Given the description of an element on the screen output the (x, y) to click on. 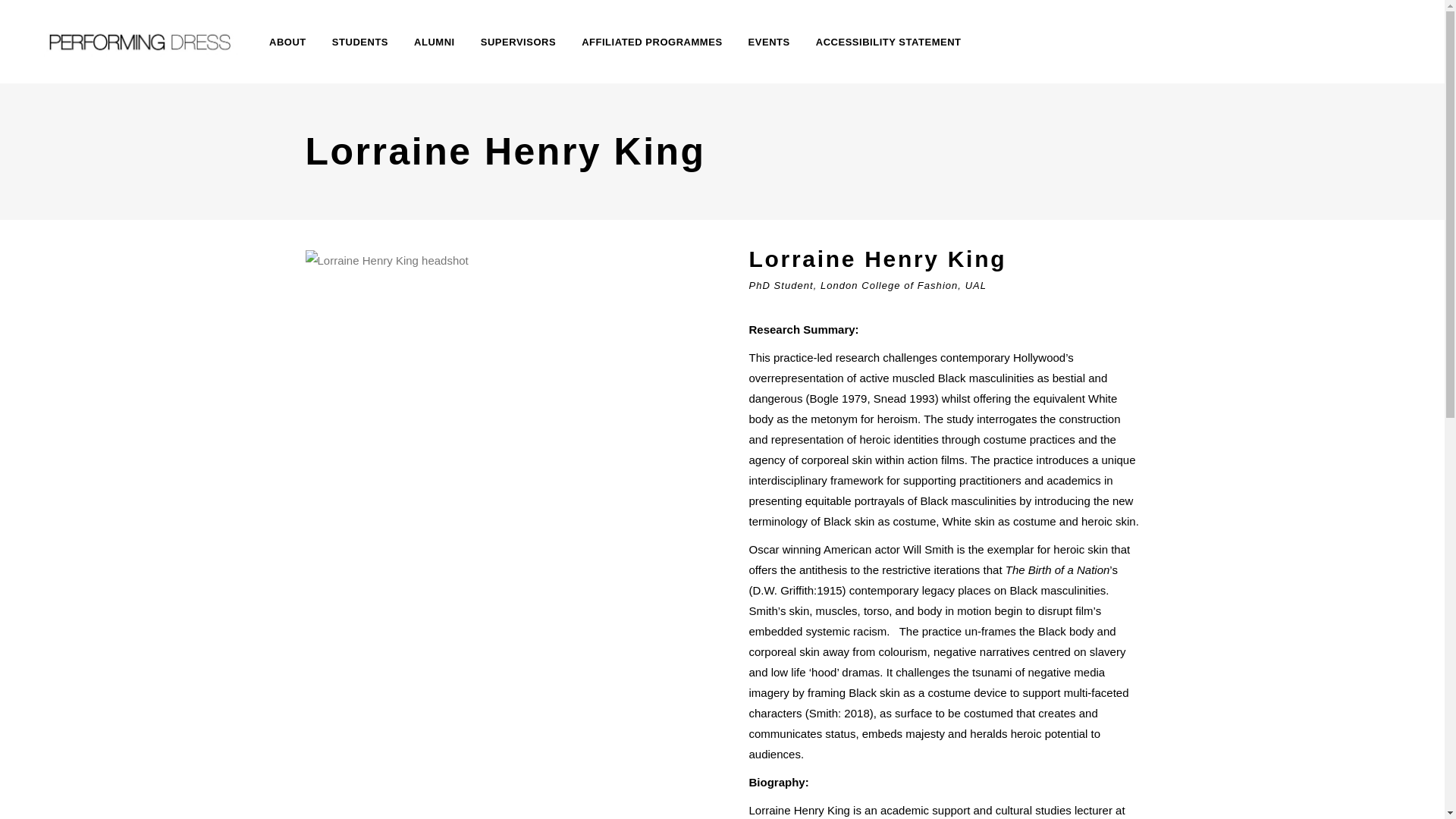
STUDENTS (359, 41)
ACCESSIBILITY STATEMENT (888, 41)
SUPERVISORS (518, 41)
AFFILIATED PROGRAMMES (652, 41)
